Given the description of an element on the screen output the (x, y) to click on. 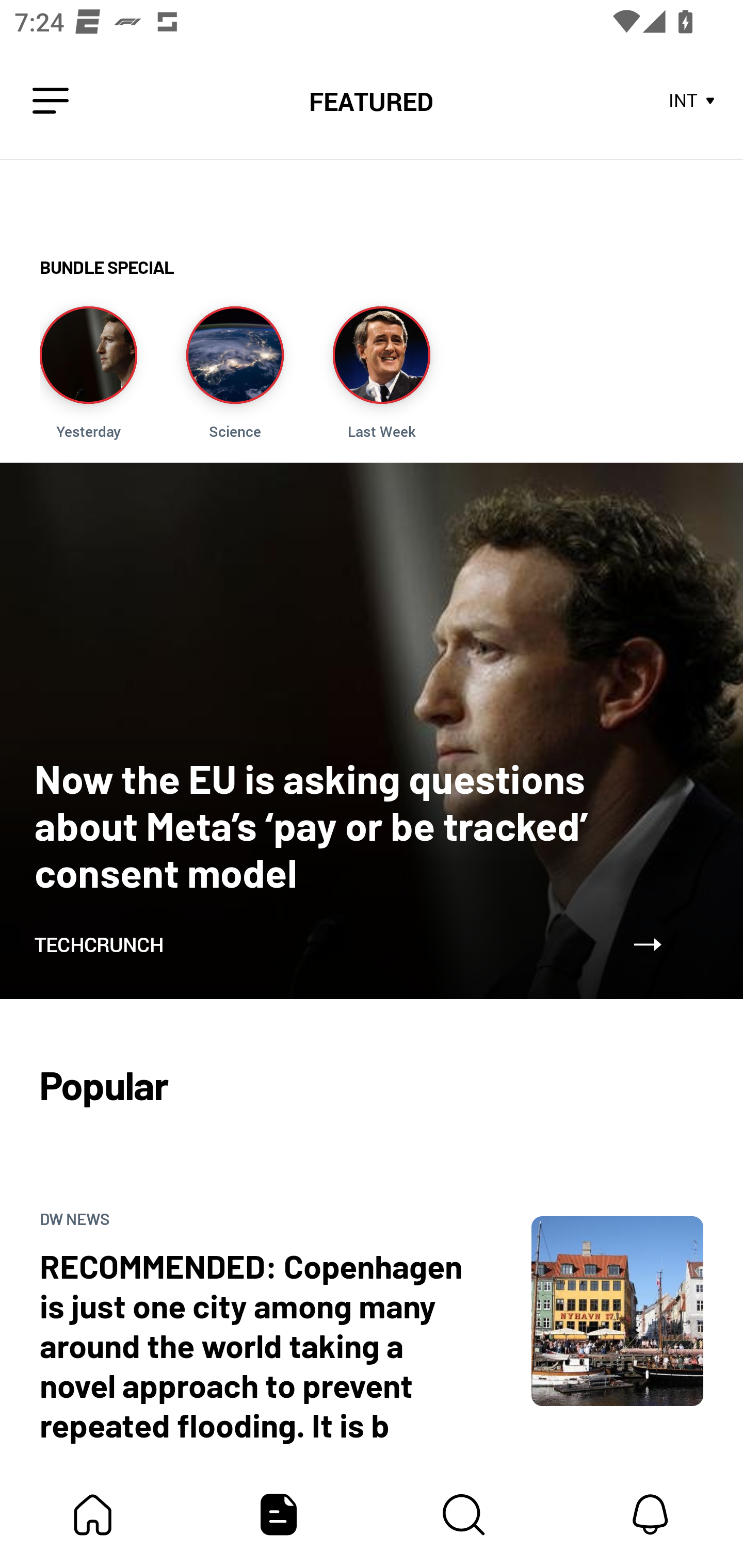
Leading Icon (50, 101)
INT Store Area (692, 101)
Story Image Yesterday (88, 372)
Story Image Science (234, 372)
Story Image Last Week (381, 372)
My Bundle (92, 1514)
Content Store (464, 1514)
Notifications (650, 1514)
